Given the description of an element on the screen output the (x, y) to click on. 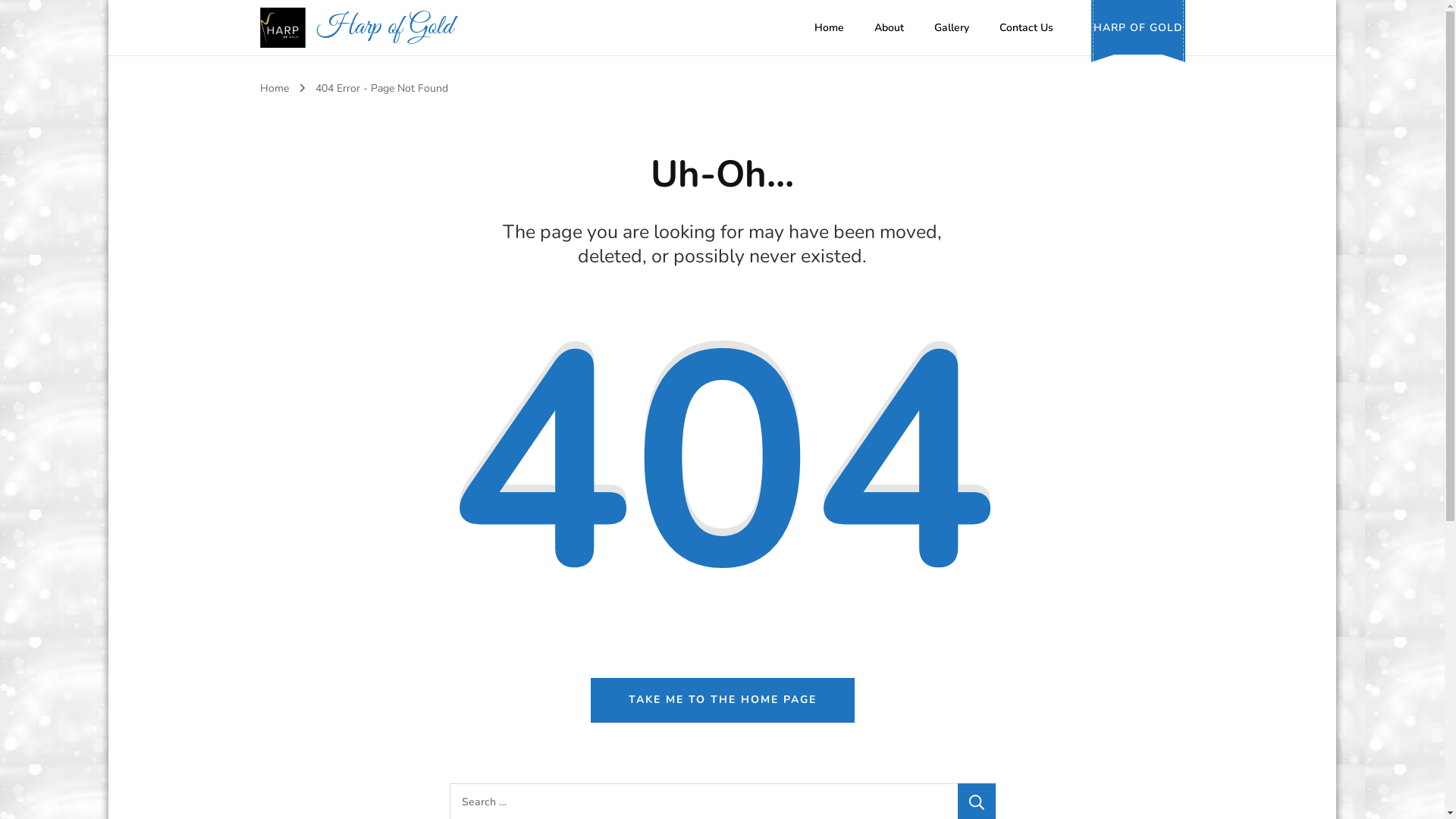
Harp of Gold Element type: text (384, 26)
Home Element type: text (829, 27)
About Element type: text (888, 27)
Gallery Element type: text (951, 27)
Contact Us Element type: text (1026, 27)
HARP OF GOLD Element type: text (1137, 27)
TAKE ME TO THE HOME PAGE Element type: text (721, 699)
Home Element type: text (273, 88)
